Given the description of an element on the screen output the (x, y) to click on. 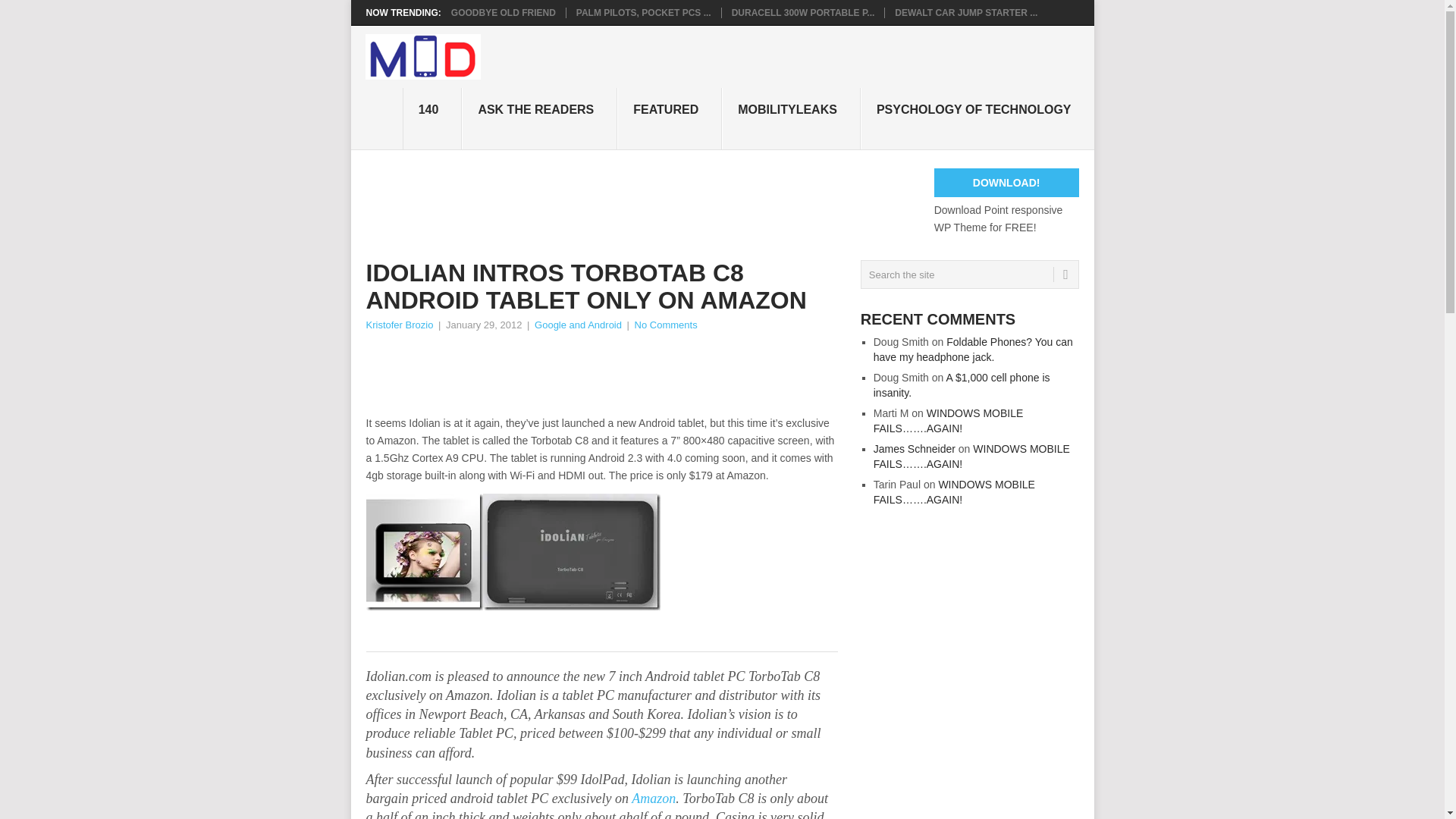
Duracell 300w Portable Power Station Review (803, 12)
140 (433, 118)
Goodbye Old Friend (503, 12)
Amazon (653, 798)
FEATURED (669, 118)
Kristofer Brozio (398, 324)
GOODBYE OLD FRIEND (503, 12)
31FcvLfLMqL (570, 551)
PALM PILOTS, POCKET PCS ... (643, 12)
DOWNLOAD! (1006, 182)
PSYCHOLOGY OF TECHNOLOGY (977, 118)
No Comments (665, 324)
ASK THE READERS (539, 118)
Search the site (969, 274)
Google and Android (577, 324)
